Given the description of an element on the screen output the (x, y) to click on. 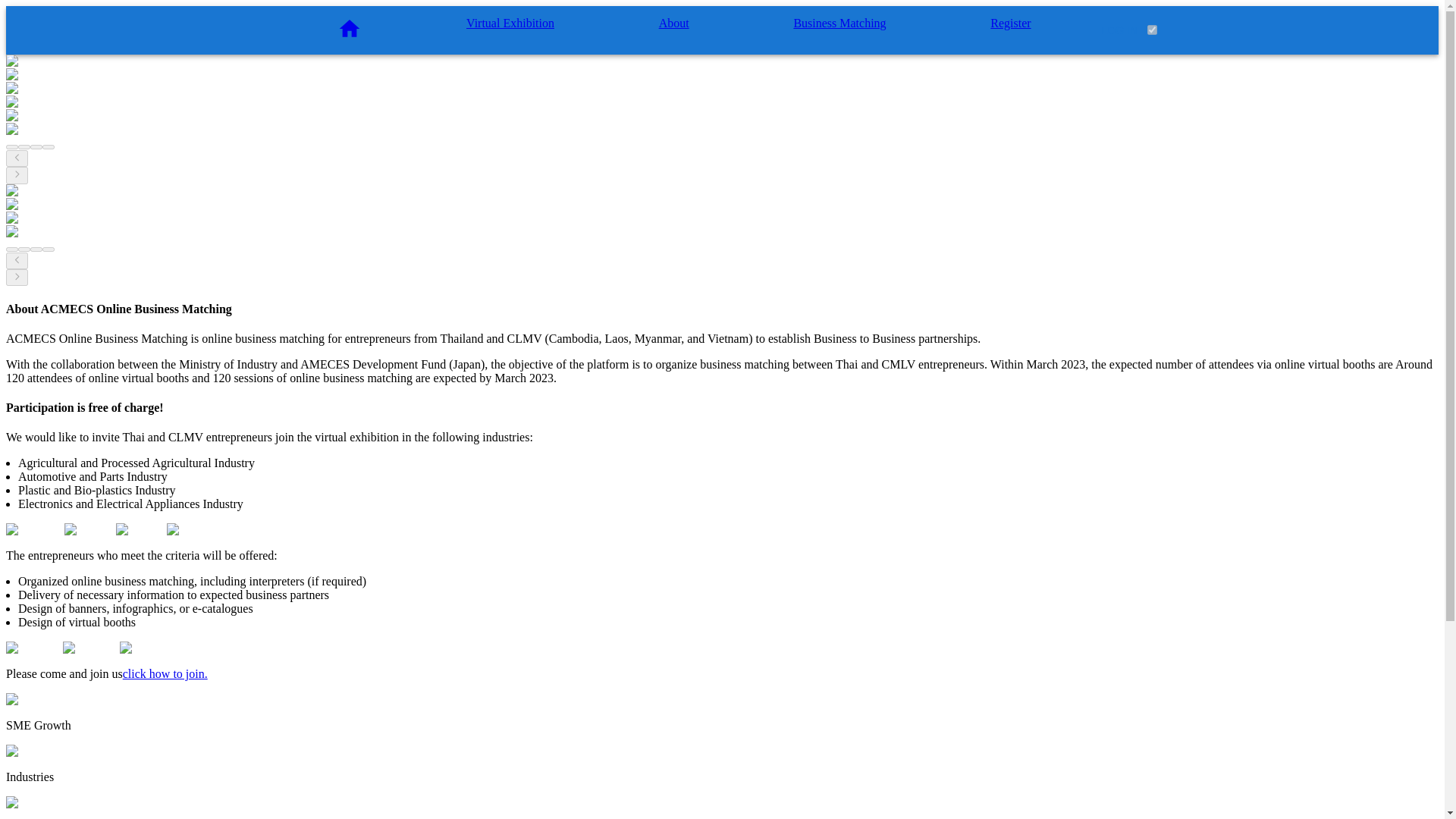
Business Matching (839, 22)
LOG IN (1118, 30)
Register (1010, 22)
click how to join. (165, 673)
on (1151, 30)
Virtual Exhibition (509, 22)
About (673, 22)
